Given the description of an element on the screen output the (x, y) to click on. 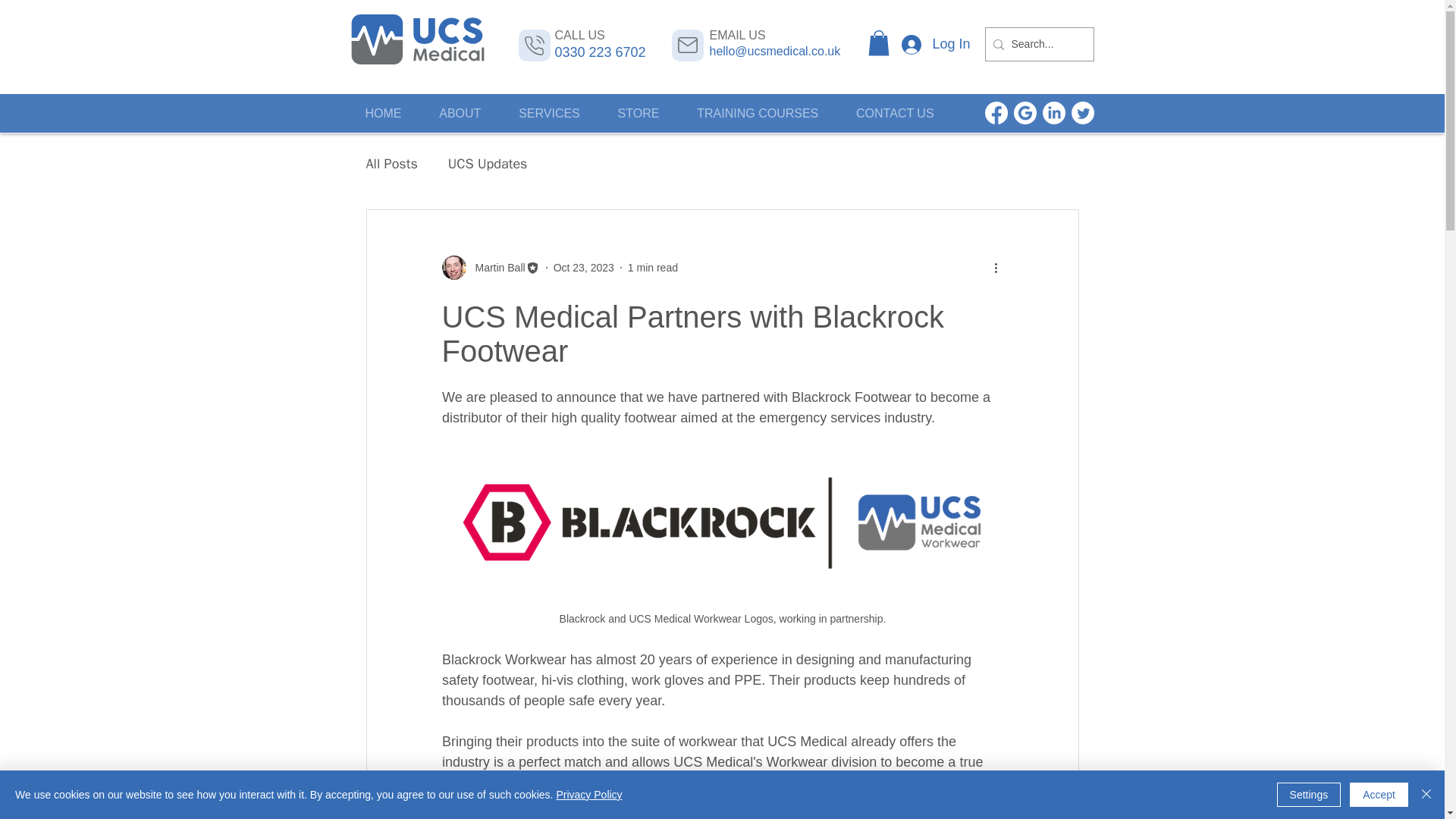
1 min read (652, 266)
CONTACT US (894, 113)
0330 223 6702 (600, 52)
HOME (382, 113)
Log In (935, 44)
STORE (638, 113)
Oct 23, 2023 (583, 266)
UCS Updates (487, 163)
TRAINING COURSES (757, 113)
All Posts (390, 163)
